Given the description of an element on the screen output the (x, y) to click on. 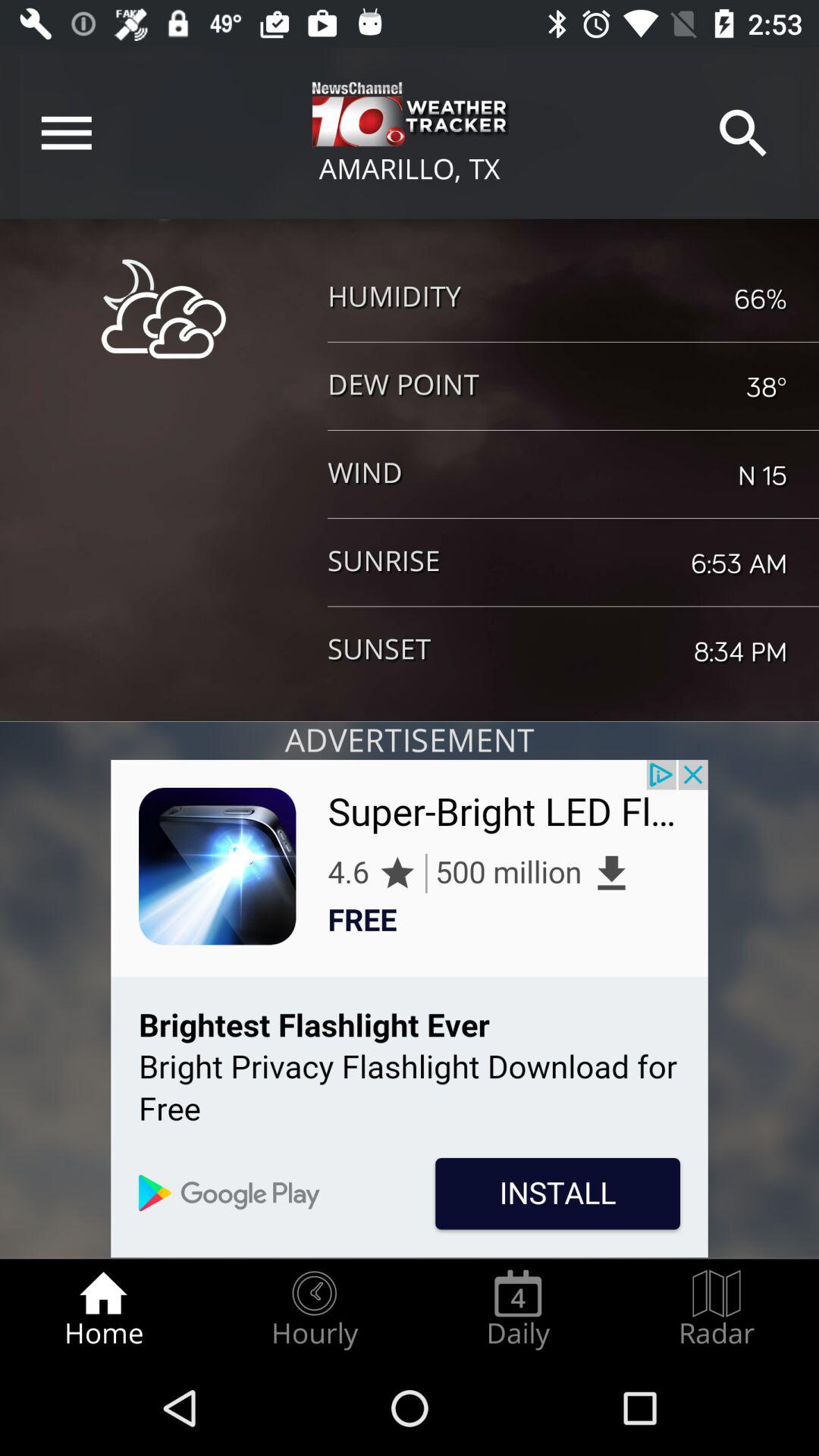
advertisement for leds (409, 1008)
